Given the description of an element on the screen output the (x, y) to click on. 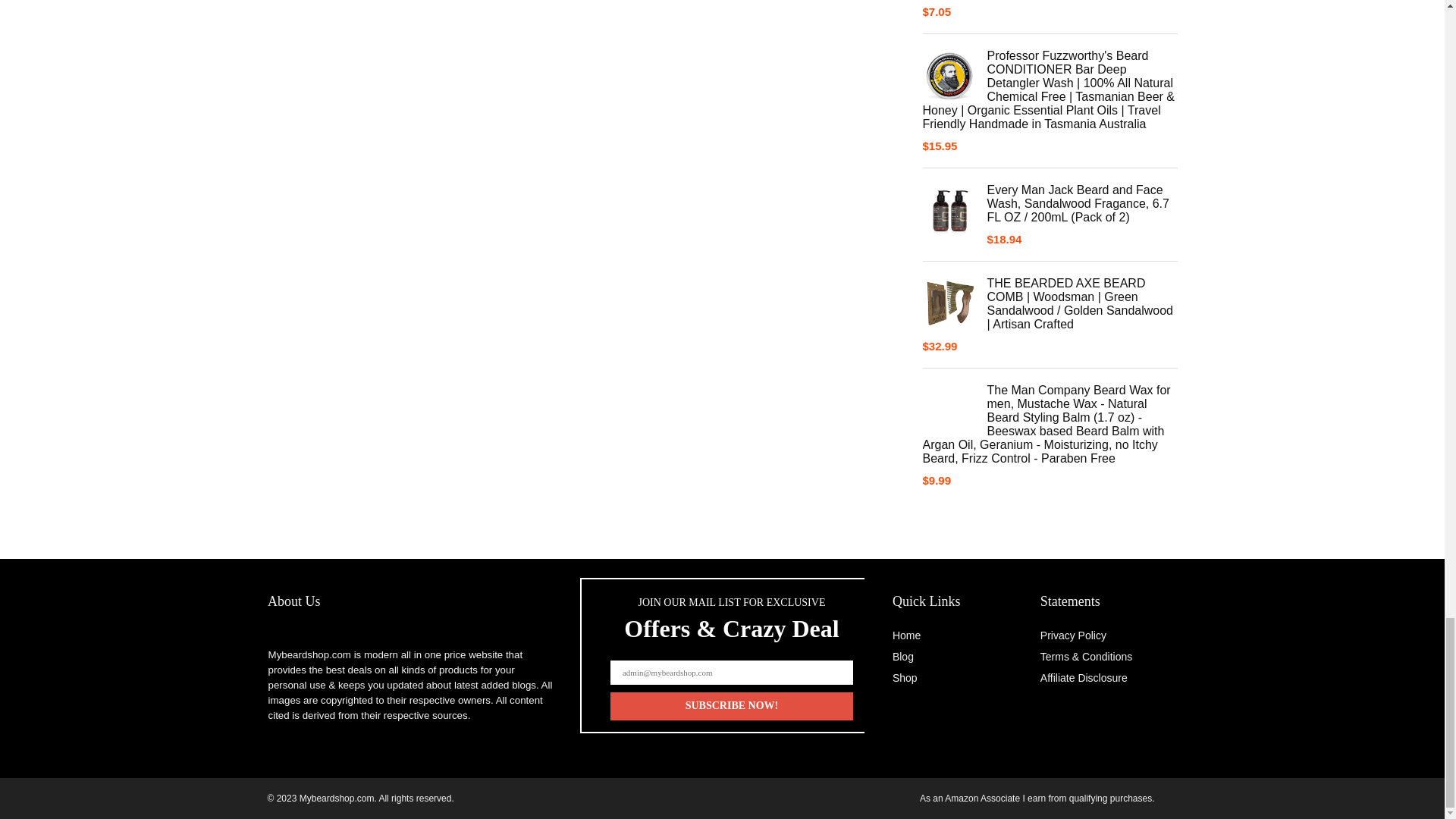
SUBSCRIBE NOW! (731, 706)
